Given the description of an element on the screen output the (x, y) to click on. 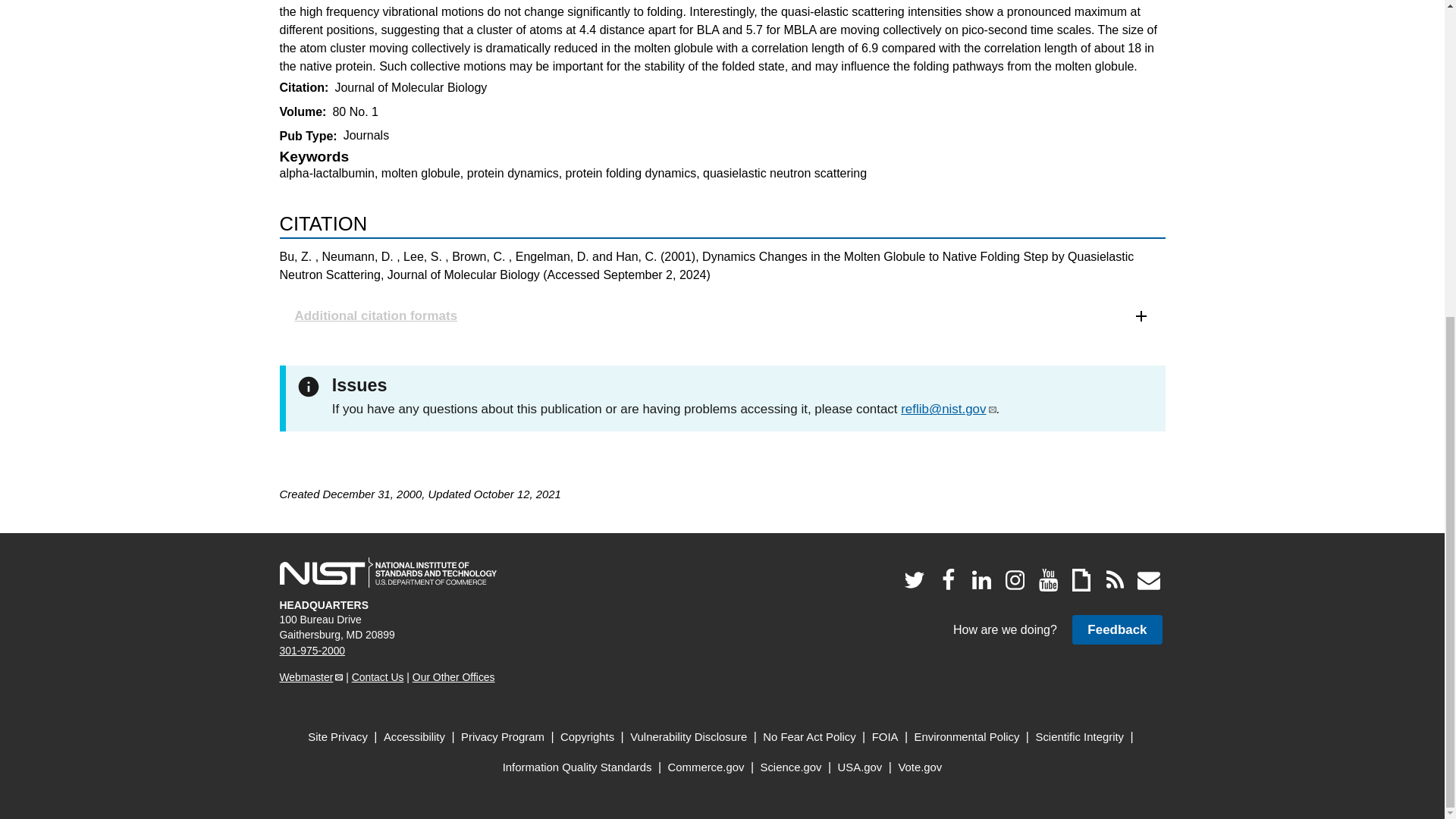
Site Privacy (337, 736)
No Fear Act Policy (809, 736)
Our Other Offices (453, 676)
National Institute of Standards and Technology (387, 572)
Copyrights (587, 736)
301-975-2000 (312, 650)
Webmaster (310, 676)
Information Quality Standards (577, 767)
FOIA (885, 736)
Contact Us (378, 676)
